Given the description of an element on the screen output the (x, y) to click on. 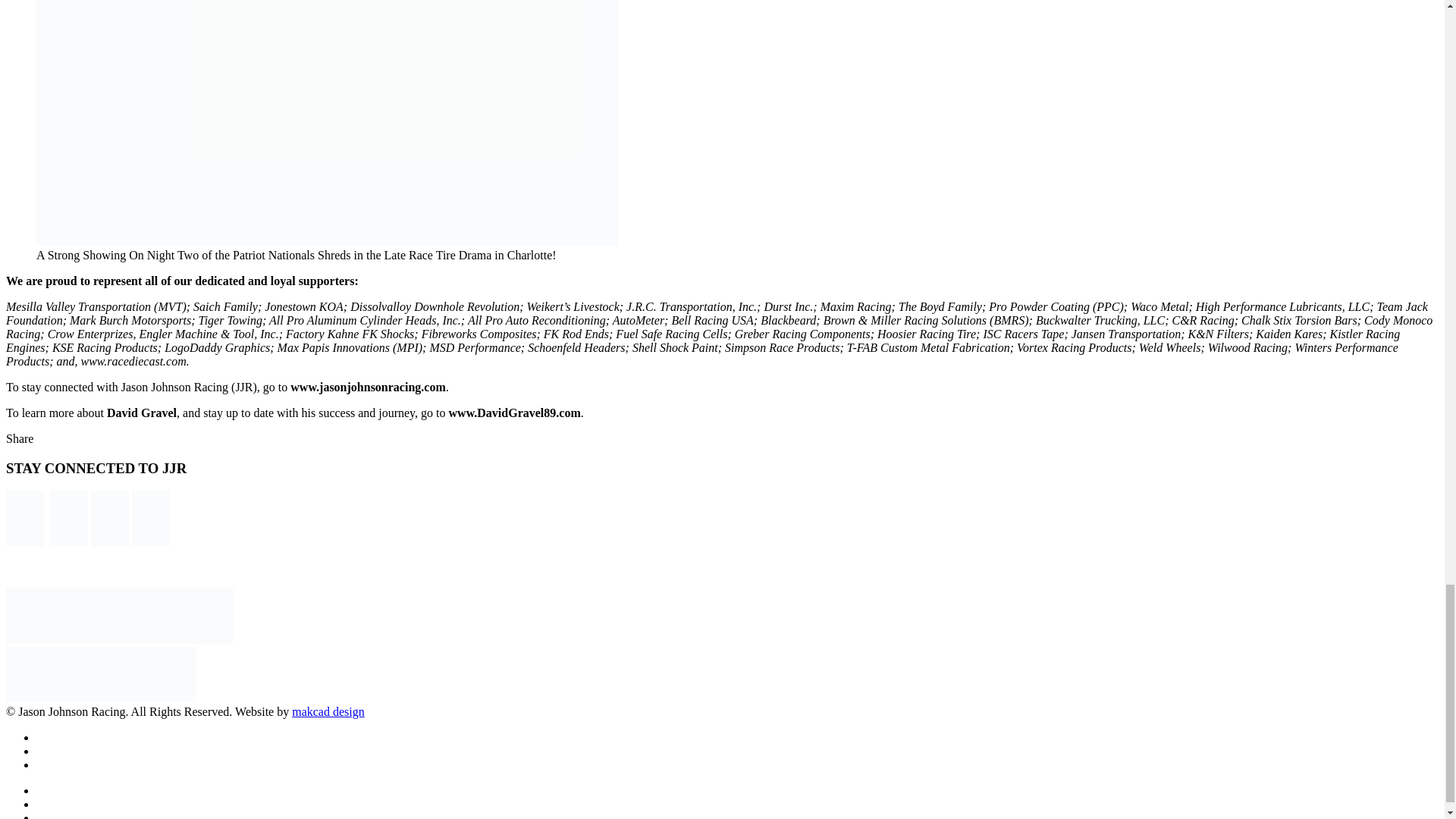
makcad design (328, 711)
